Given the description of an element on the screen output the (x, y) to click on. 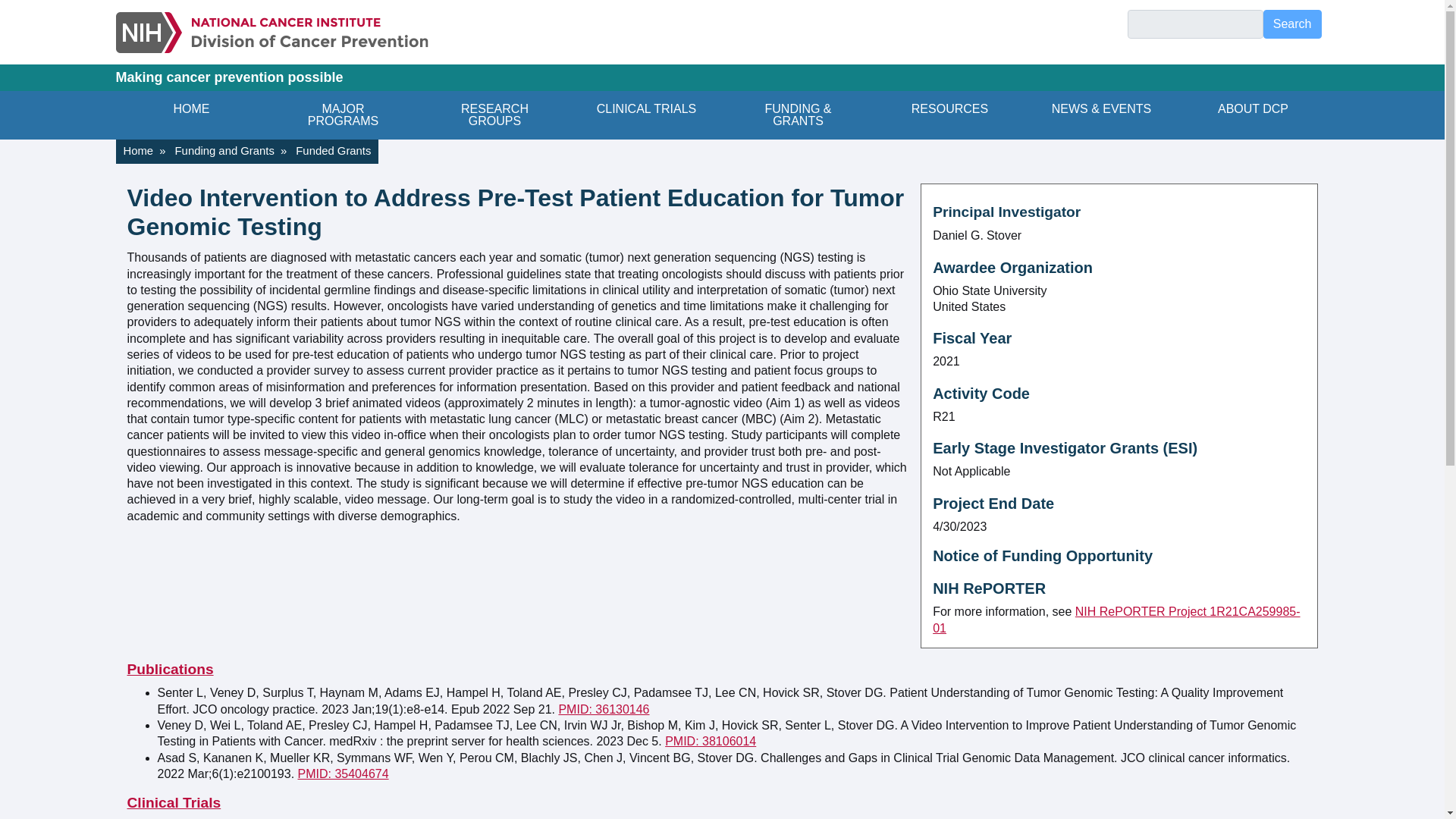
Search (1292, 23)
Skip to main content (721, 1)
Search (1292, 23)
Enter the terms you wish to search for. (1194, 23)
Search (1292, 23)
MAJOR PROGRAMS (342, 114)
Division of Cancer Prevention (271, 31)
Home (271, 31)
HOME (190, 114)
RESEARCH GROUPS (494, 114)
